Given the description of an element on the screen output the (x, y) to click on. 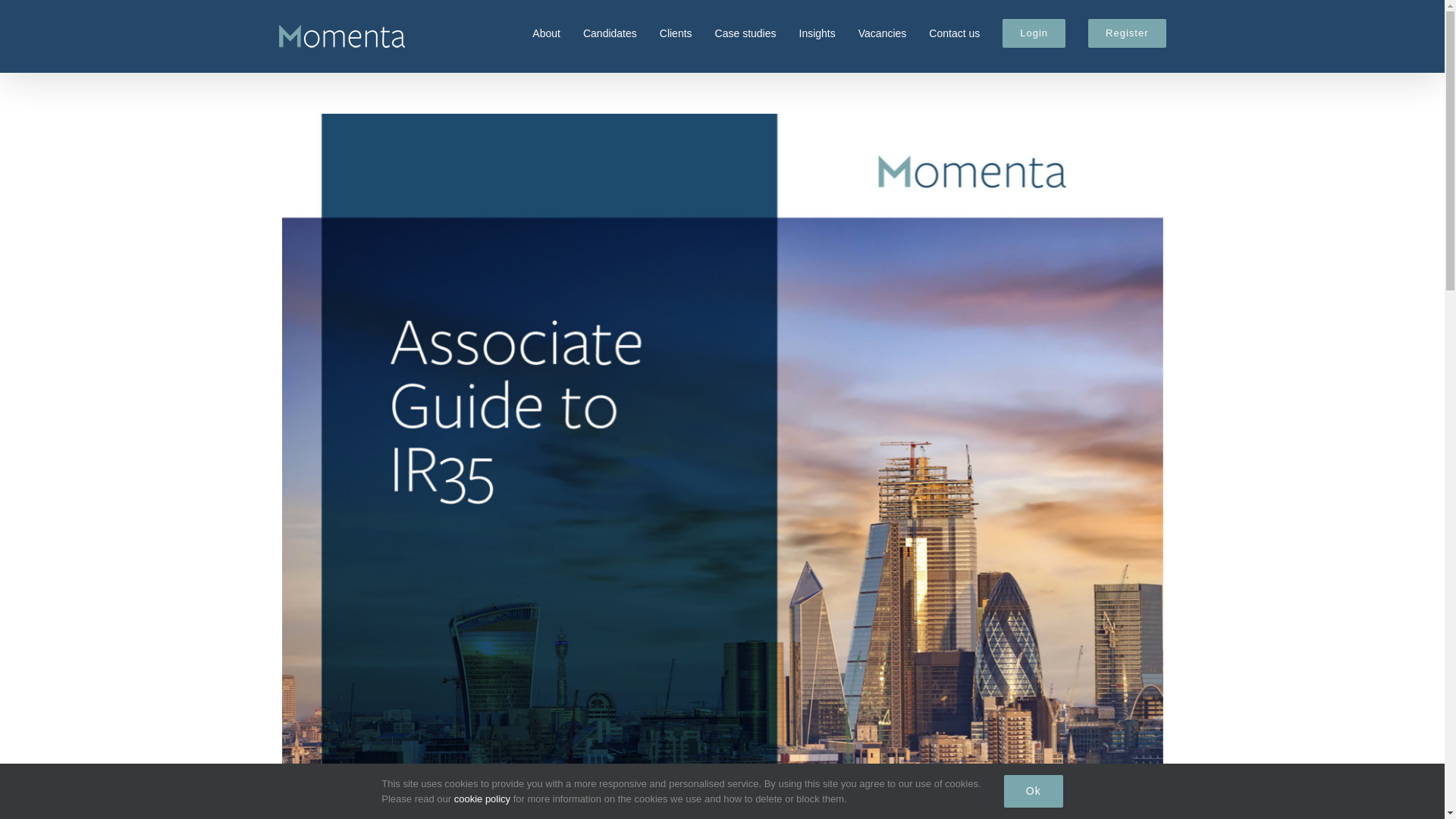
Login (1034, 31)
Case studies (745, 31)
Register (1126, 31)
